Given the description of an element on the screen output the (x, y) to click on. 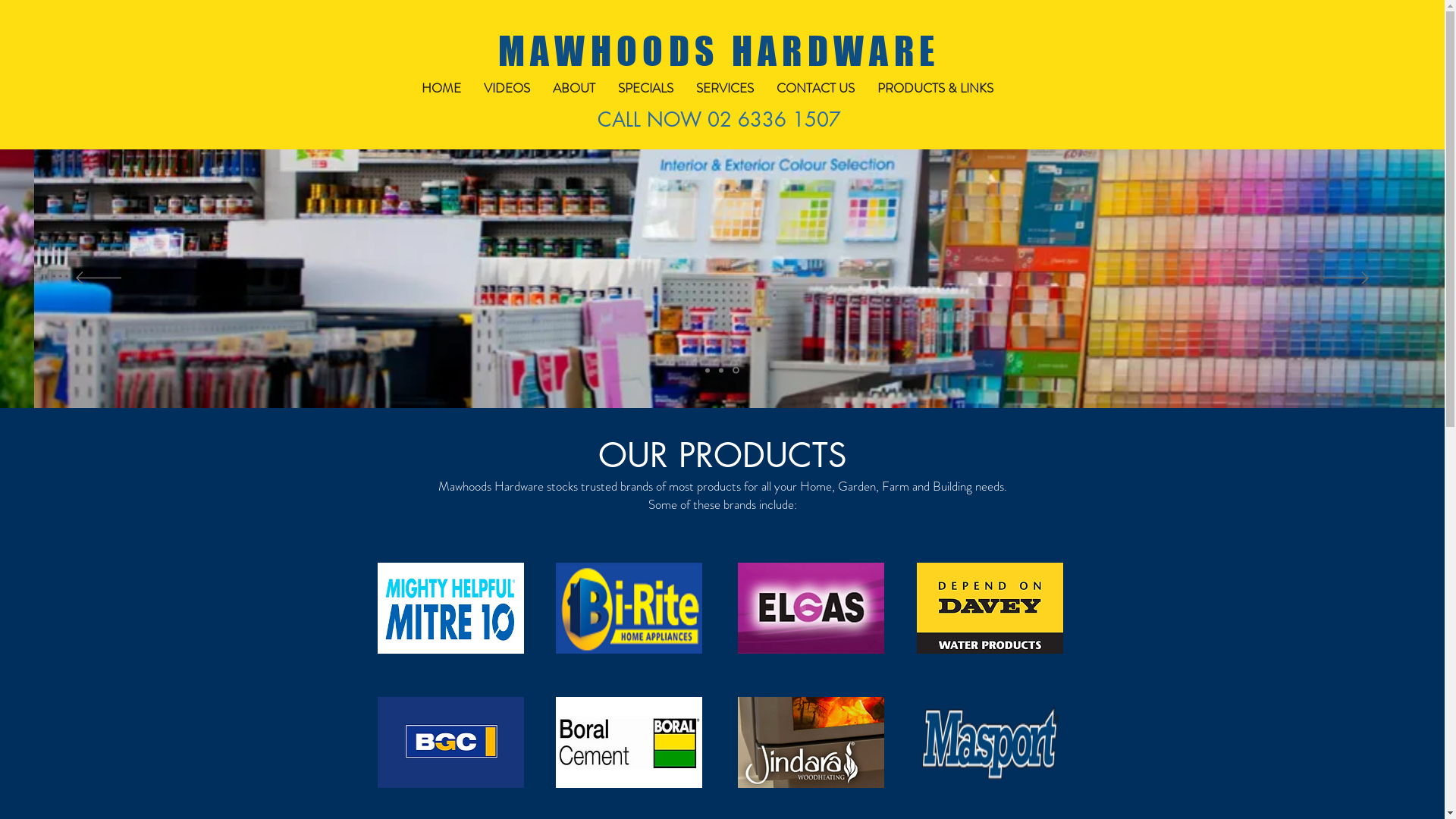
SERVICES Element type: text (724, 88)
PRODUCTS & LINKS Element type: text (935, 88)
CONTACT US Element type: text (814, 88)
ABOUT Element type: text (573, 88)
VIDEOS Element type: text (505, 88)
MAWHOODS HARDWARE Element type: text (719, 50)
SPECIALS Element type: text (645, 88)
HOME Element type: text (440, 88)
